Given the description of an element on the screen output the (x, y) to click on. 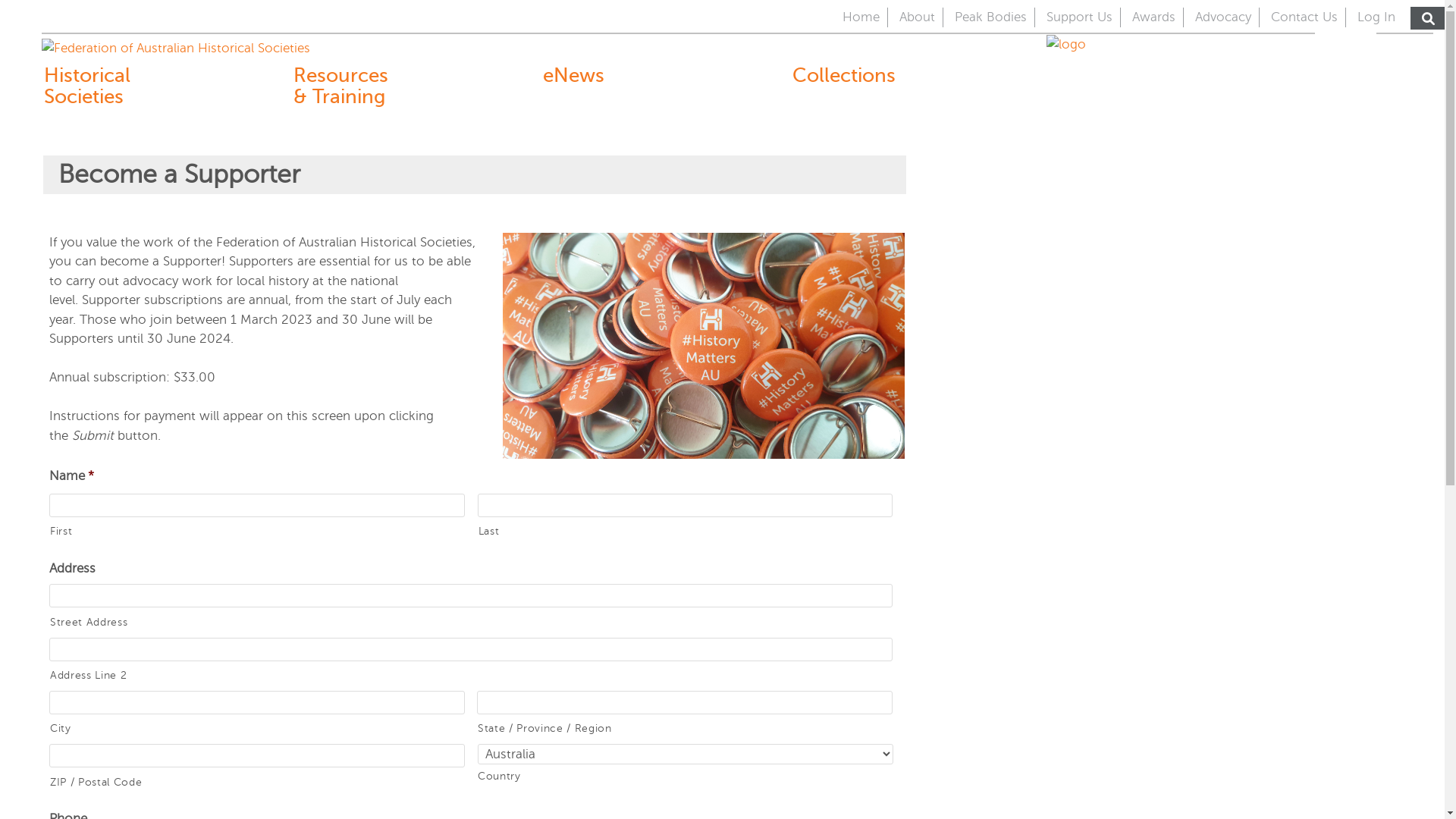
Support Us Element type: text (1079, 16)
Awards Element type: text (1153, 16)
Resources & Training Element type: text (344, 85)
Advocacy Element type: text (1223, 16)
Log In Element type: text (1376, 16)
eNews Element type: text (593, 74)
Skip to content Element type: text (0, 0)
Peak Bodies Element type: text (990, 16)
Collections Element type: text (843, 74)
About Element type: text (917, 16)
Historical Societies Element type: text (94, 85)
Skip to content Element type: text (815, 7)
Home Element type: text (860, 16)
Contact Us Element type: text (1303, 16)
